Given the description of an element on the screen output the (x, y) to click on. 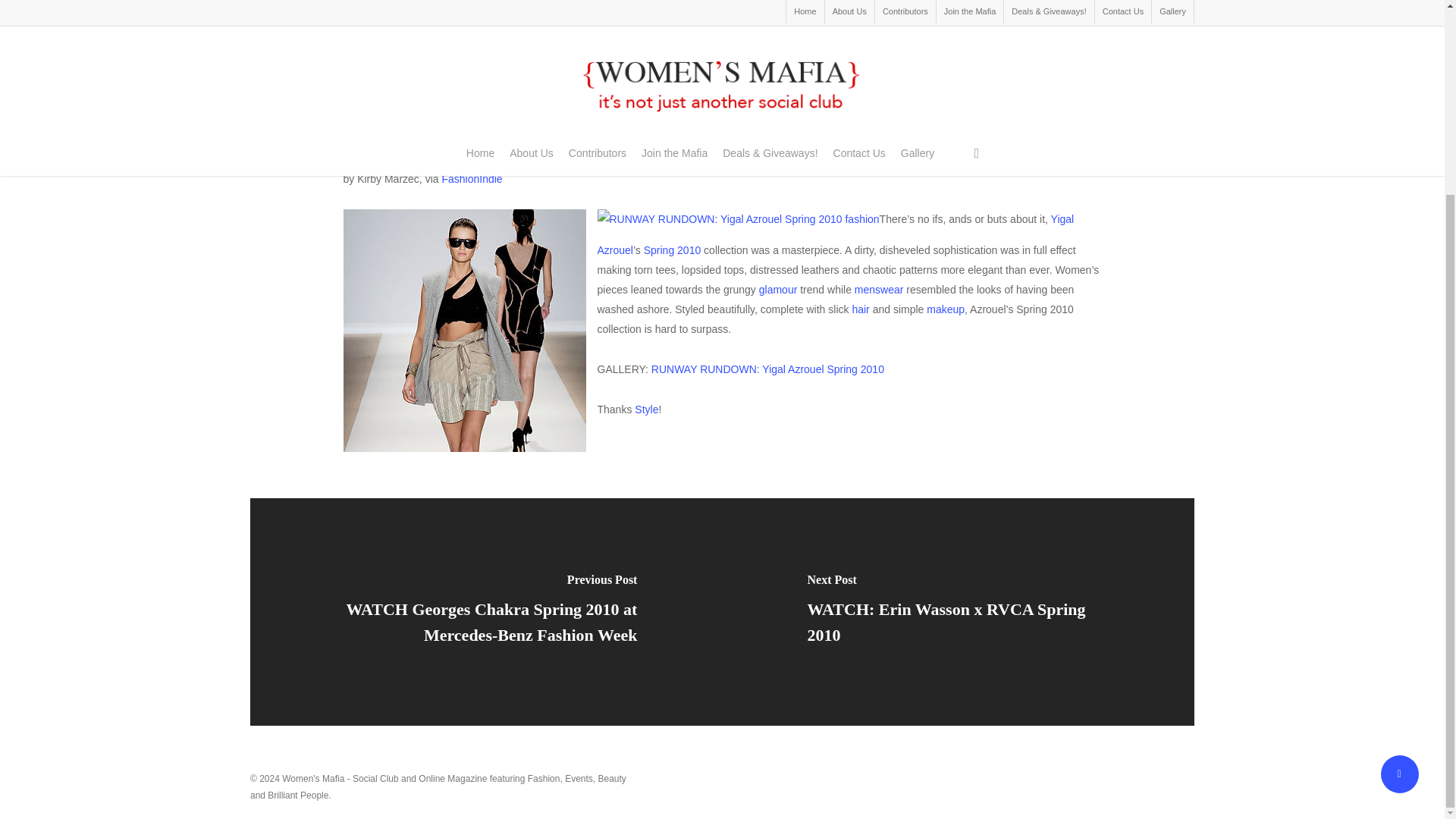
Yigal (463, 330)
hair (860, 309)
00100m (737, 219)
glamour (777, 289)
Spring 2010 (672, 250)
makeup (944, 309)
Yigal Azrouel (835, 234)
Posts by Marcy (576, 95)
menswear (879, 289)
